Given the description of an element on the screen output the (x, y) to click on. 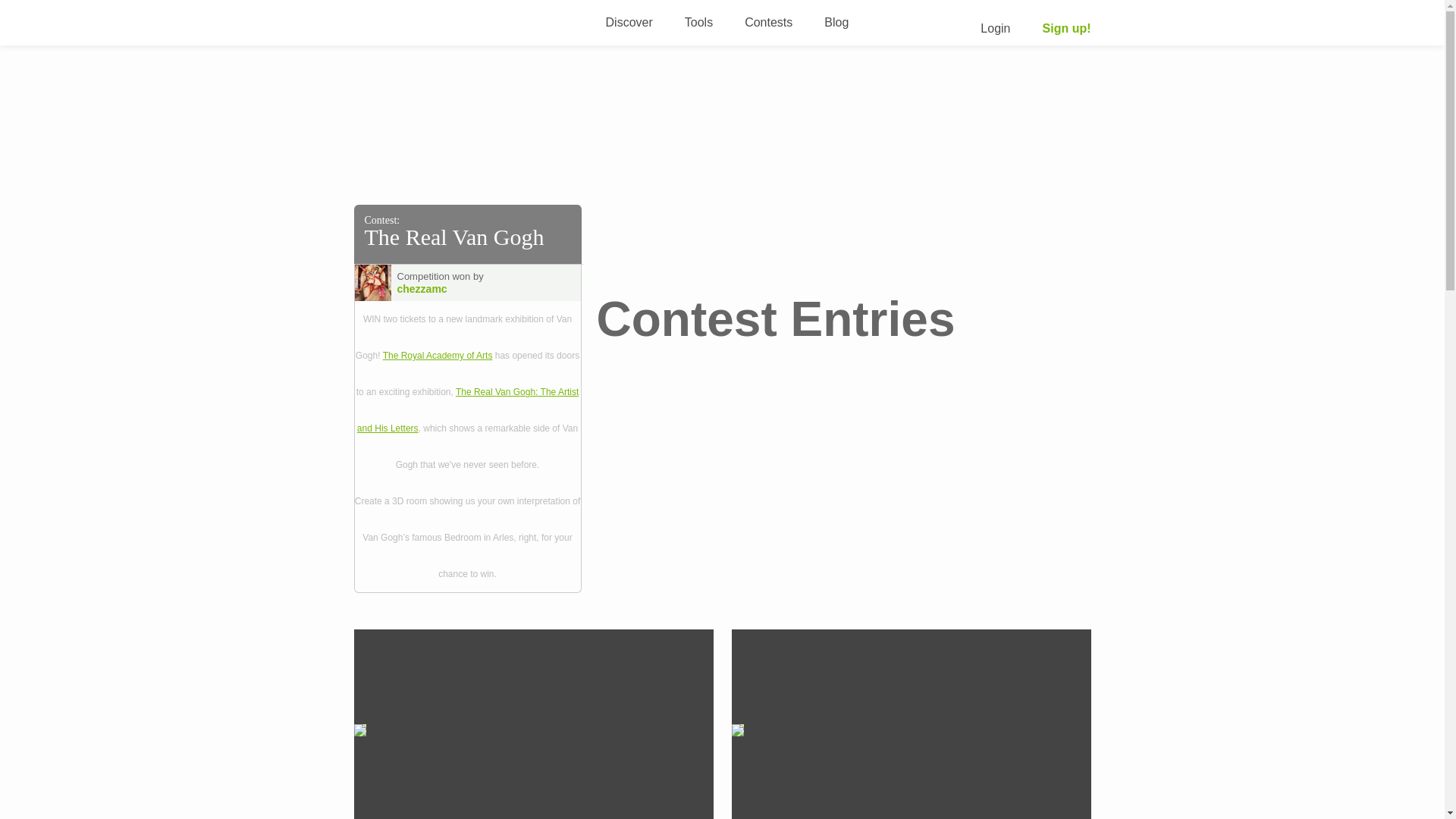
The Real Van Gogh (453, 236)
Tools (698, 21)
The Royal Academy of Arts (437, 355)
The Real Van Gogh: The Artist and His Letters (467, 410)
chezzamc (450, 288)
Login (994, 28)
Sign up! (1066, 28)
Blog (836, 21)
Discover (628, 21)
Contests (768, 21)
